Given the description of an element on the screen output the (x, y) to click on. 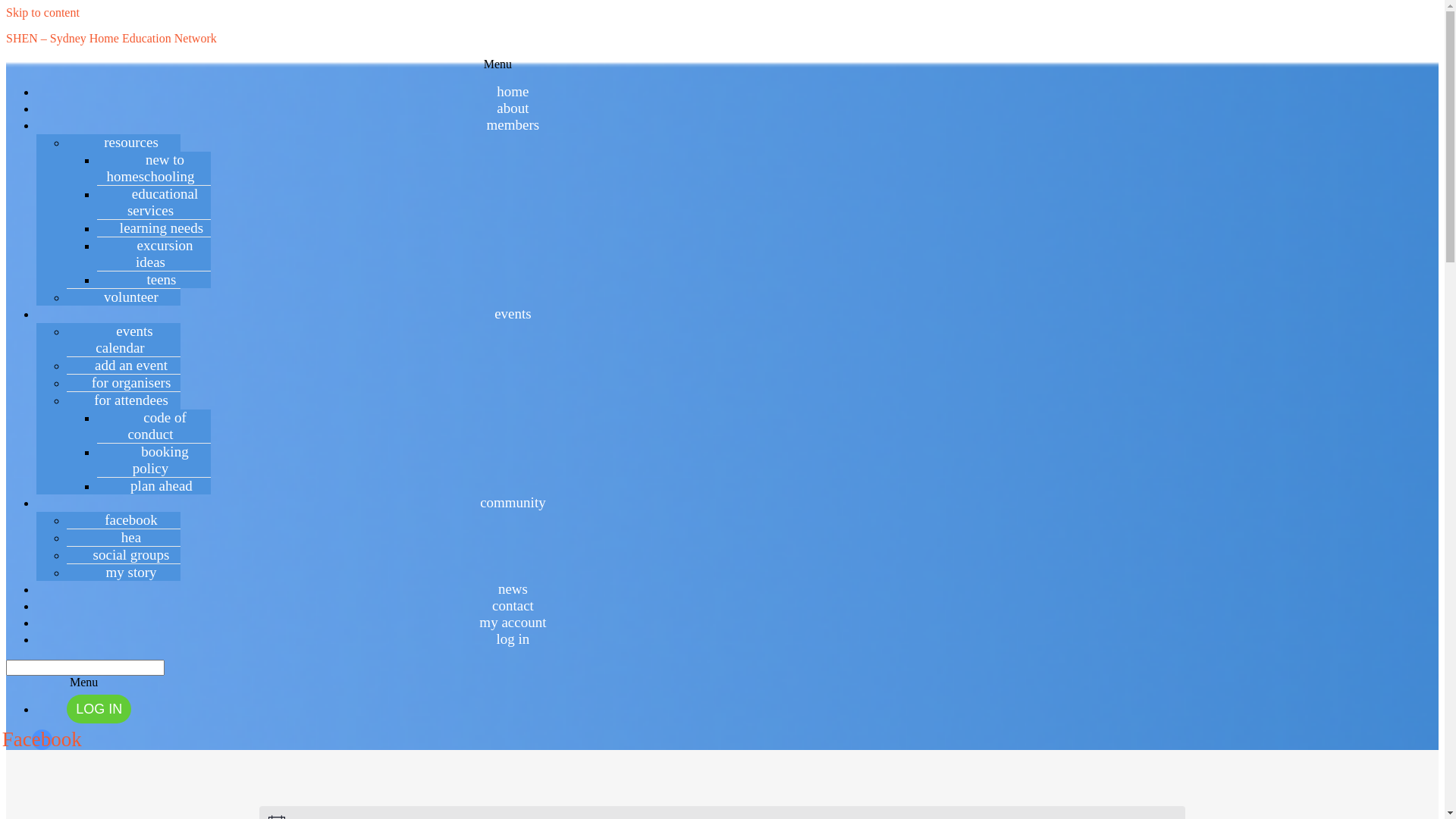
for organisers Element type: text (123, 382)
hea Element type: text (123, 537)
my story Element type: text (123, 572)
LOG IN Element type: text (98, 708)
code of conduct Element type: text (153, 425)
events calendar Element type: text (123, 338)
social groups Element type: text (123, 554)
learning needs Element type: text (153, 227)
log in Element type: text (512, 638)
for attendees Element type: text (123, 399)
home Element type: text (512, 91)
news Element type: text (512, 588)
new to homeschooling Element type: text (153, 167)
contact Element type: text (512, 605)
my account Element type: text (512, 622)
volunteer Element type: text (123, 296)
Search Element type: hover (85, 667)
about Element type: text (512, 107)
Facebook Element type: text (41, 739)
resources Element type: text (123, 142)
community Element type: text (512, 502)
teens Element type: text (153, 279)
plan ahead Element type: text (153, 485)
members Element type: text (513, 124)
Skip to content Element type: text (42, 12)
excursion ideas Element type: text (154, 253)
facebook Element type: text (123, 519)
booking policy Element type: text (153, 459)
events Element type: text (512, 313)
educational services Element type: text (153, 201)
add an event Element type: text (123, 365)
